Given the description of an element on the screen output the (x, y) to click on. 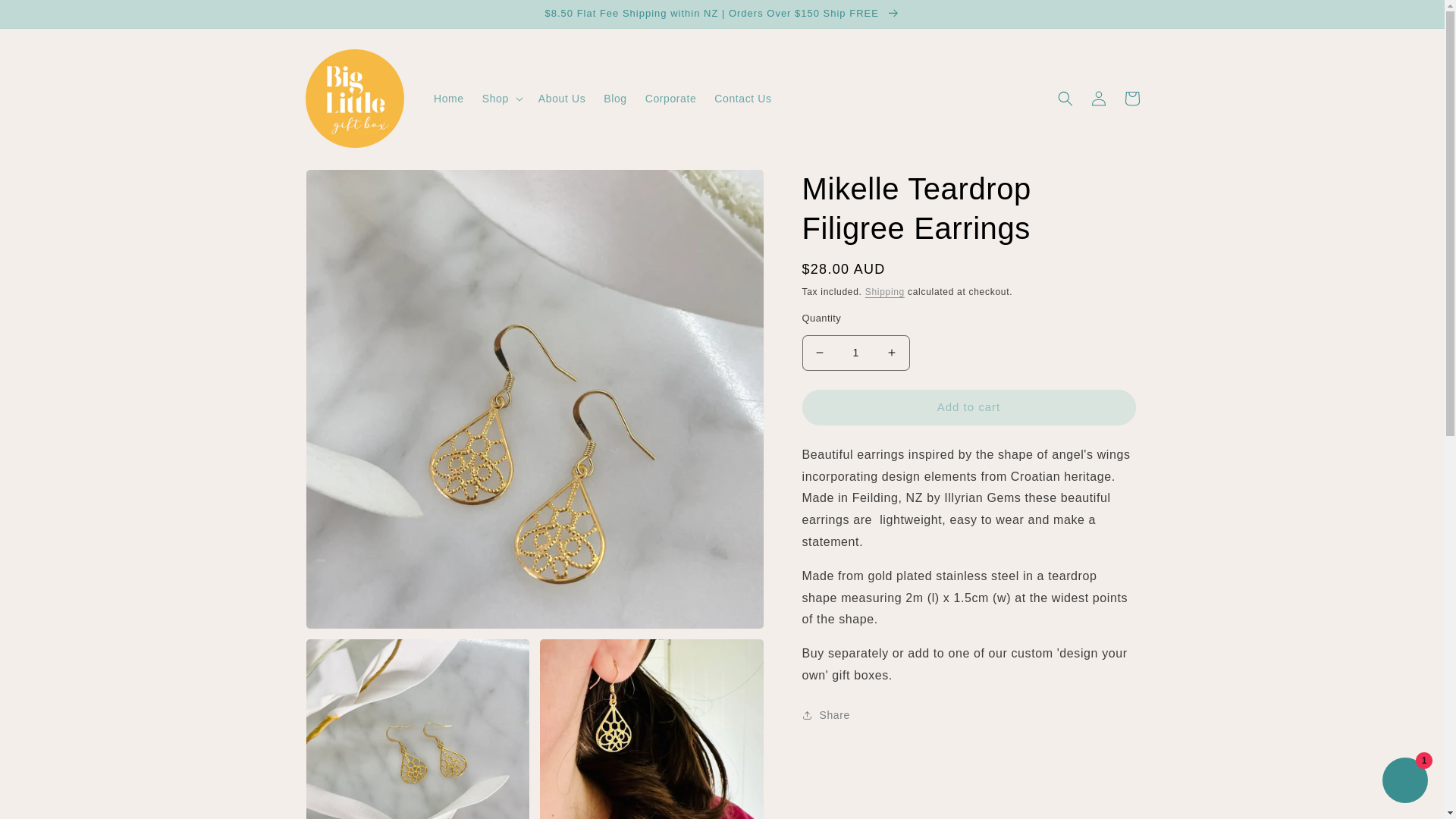
Home (449, 98)
Skip to content (45, 17)
Shopify online store chat (1404, 781)
Corporate (671, 98)
1 (856, 352)
About Us (561, 98)
Blog (614, 98)
